Given the description of an element on the screen output the (x, y) to click on. 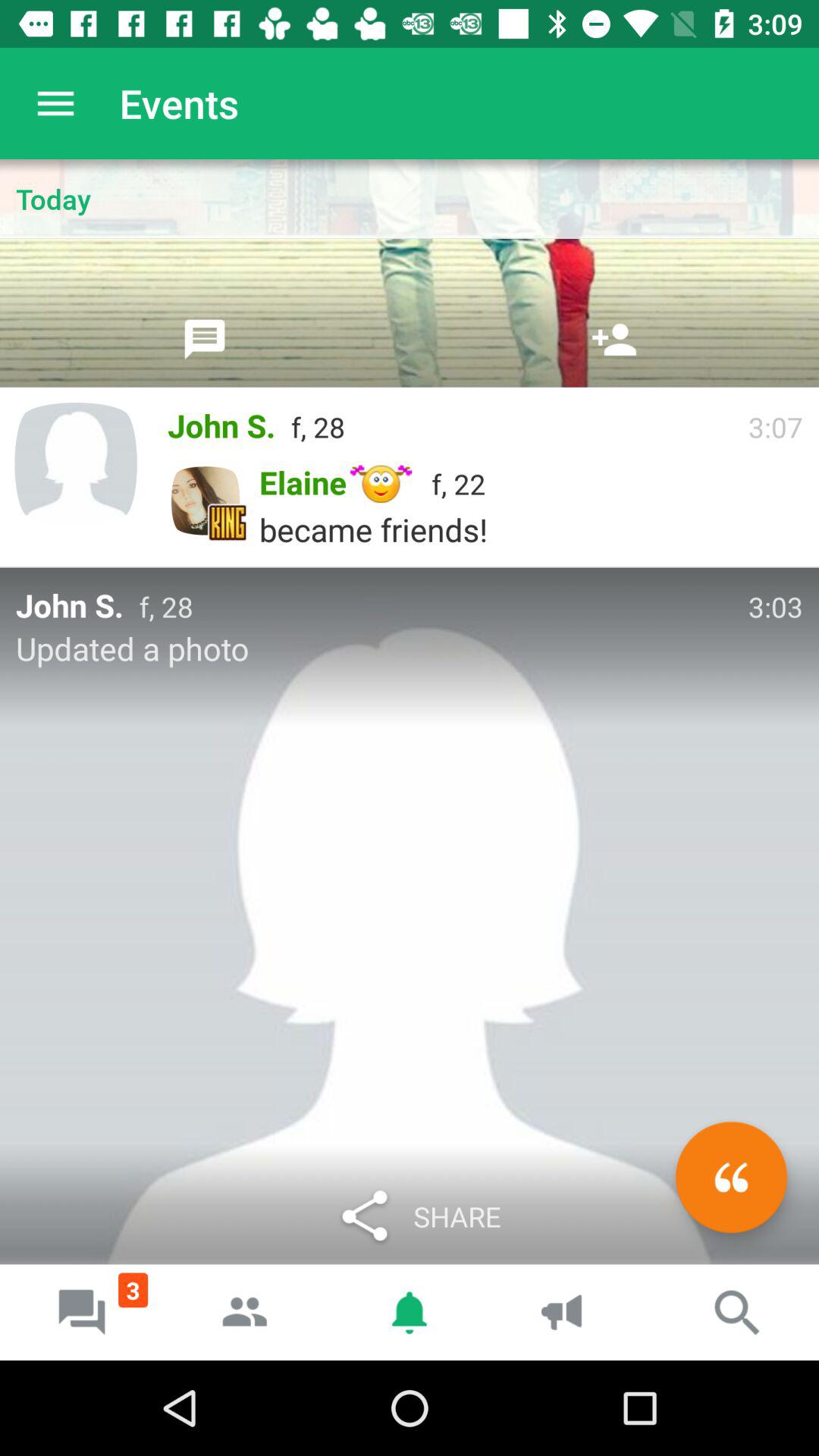
add comment (731, 1177)
